Given the description of an element on the screen output the (x, y) to click on. 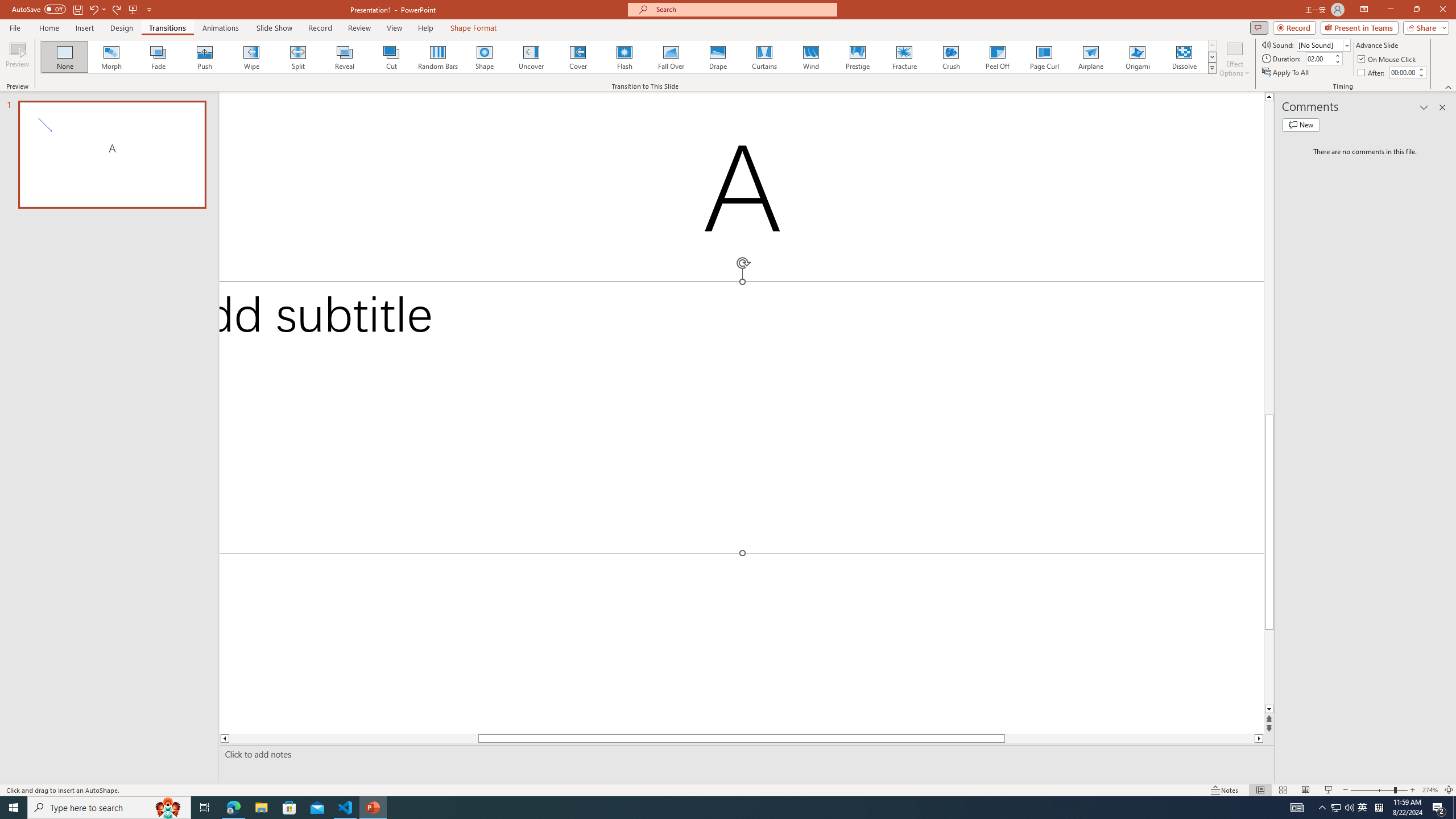
Reveal (344, 56)
On Mouse Click (1387, 58)
Uncover (531, 56)
